Given the description of an element on the screen output the (x, y) to click on. 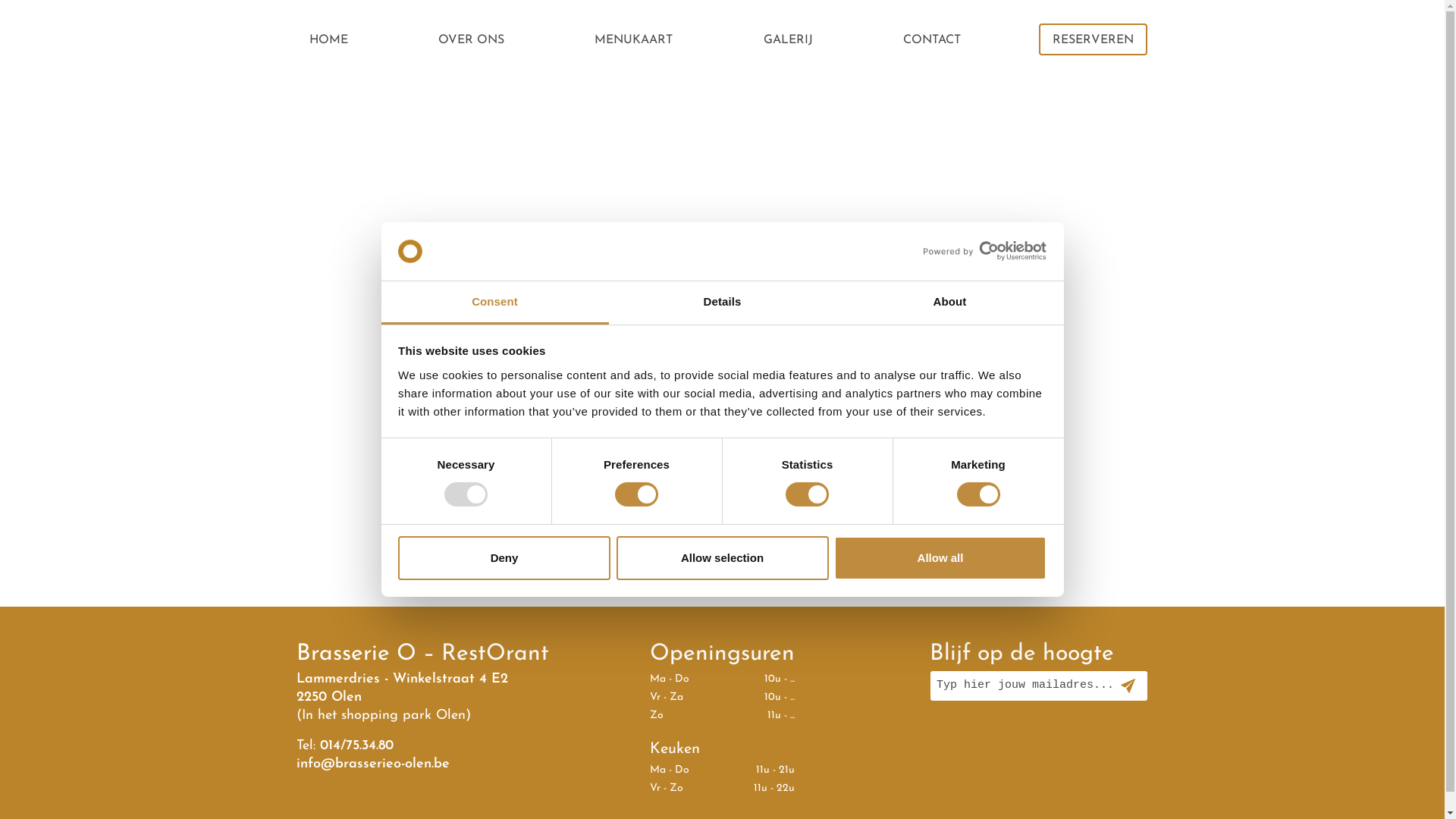
About Element type: text (949, 302)
GALERIJ Element type: text (788, 39)
Allow selection Element type: text (721, 558)
MENUKAART Element type: text (633, 39)
CONTACT Element type: text (931, 39)
OVER ONS Element type: text (471, 39)
Lammerdries - Winkelstraat 4 E2
2250 Olen Element type: text (402, 687)
Deny Element type: text (504, 558)
RESERVEREN Element type: text (1092, 39)
014/75.34.80 Element type: text (356, 745)
info@brasserieo-olen.be Element type: text (372, 763)
Back to Home Element type: text (722, 339)
Details Element type: text (721, 302)
HOME Element type: text (328, 39)
Consent Element type: text (494, 302)
Allow all Element type: text (940, 558)
